Given the description of an element on the screen output the (x, y) to click on. 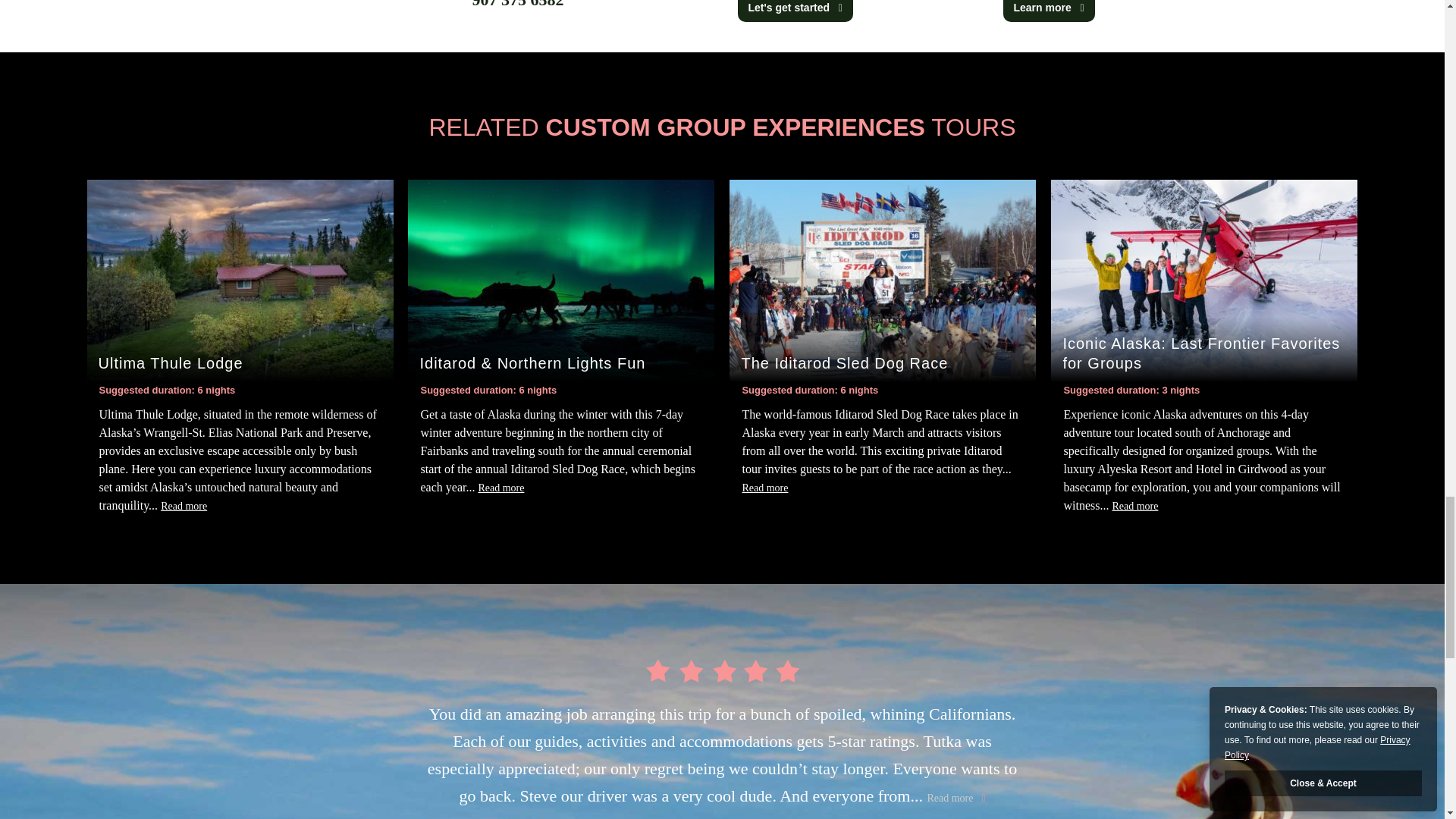
Create itinerary (788, 7)
